Given the description of an element on the screen output the (x, y) to click on. 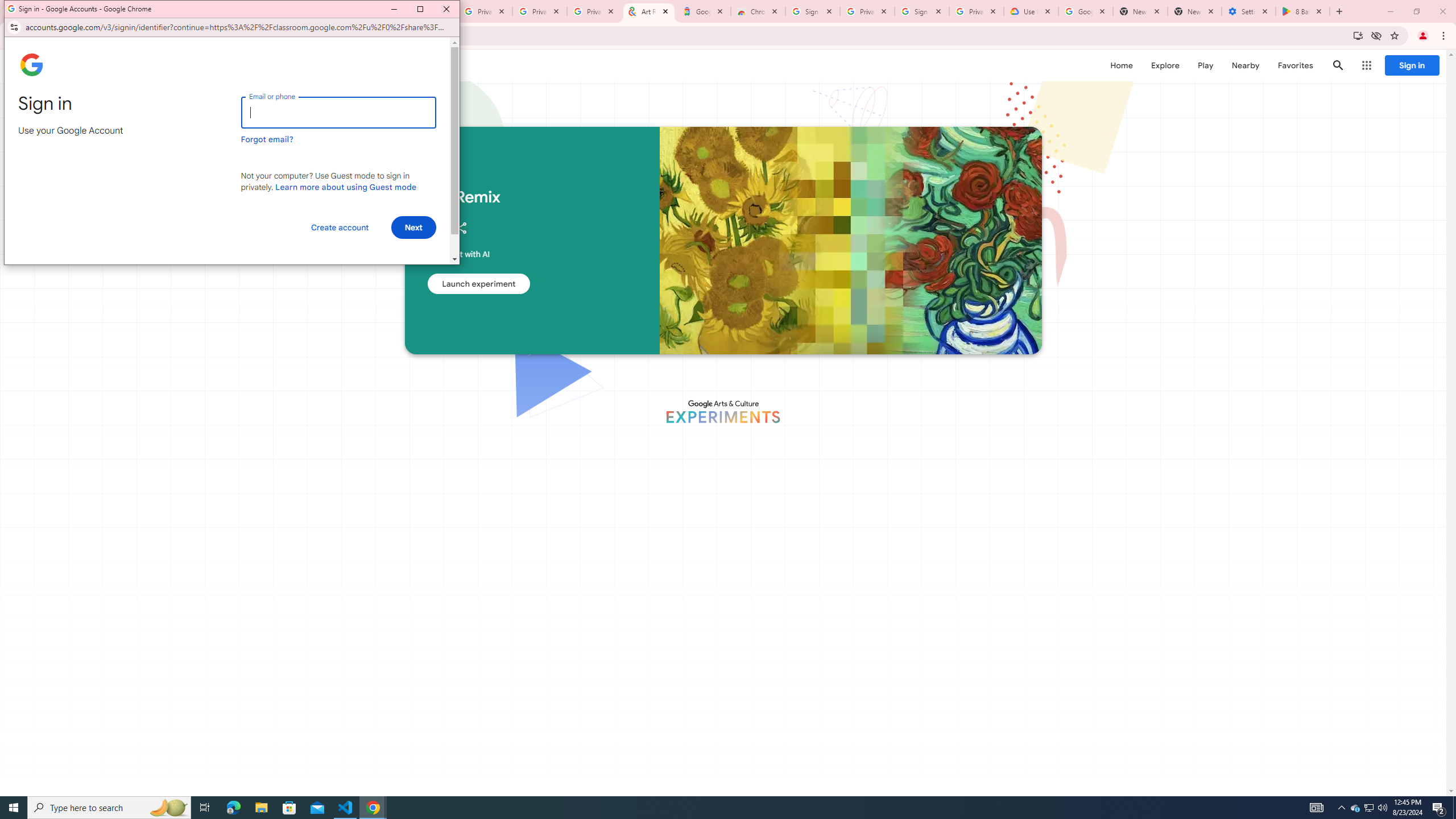
Google (703, 11)
Nearby (1244, 65)
Search highlights icon opens search home window (167, 807)
Email or phone (338, 112)
Privacy Checkup (539, 11)
Notification Chevron (1341, 807)
Go to Arts & Culture (807, 467)
Privacy Checkup (594, 11)
Learn more about using Guest mode (345, 186)
AutomationID: 4105 (1316, 807)
Type here to search (108, 807)
